Given the description of an element on the screen output the (x, y) to click on. 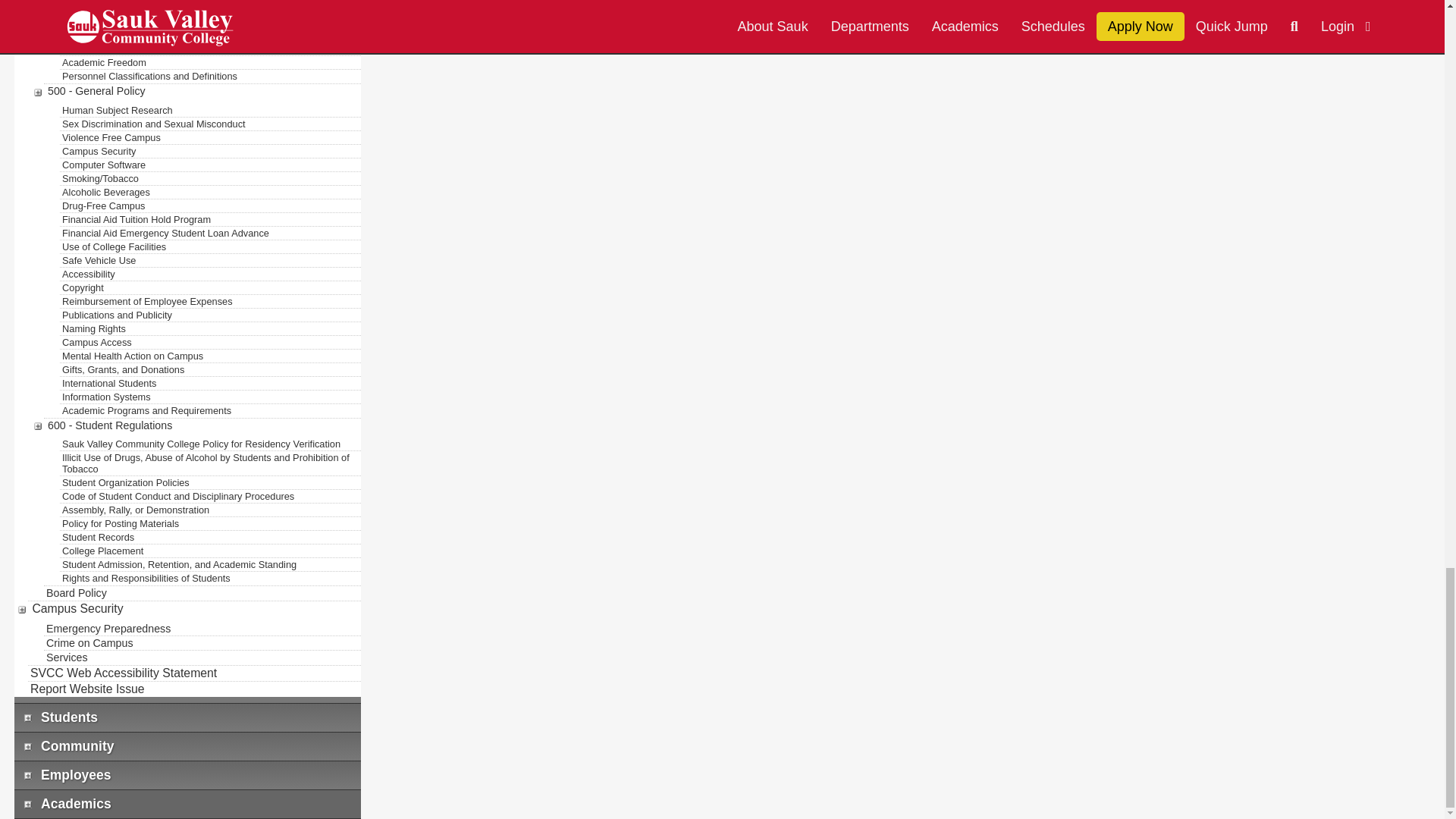
expand Community section (24, 745)
expand Students section (24, 717)
